Given the description of an element on the screen output the (x, y) to click on. 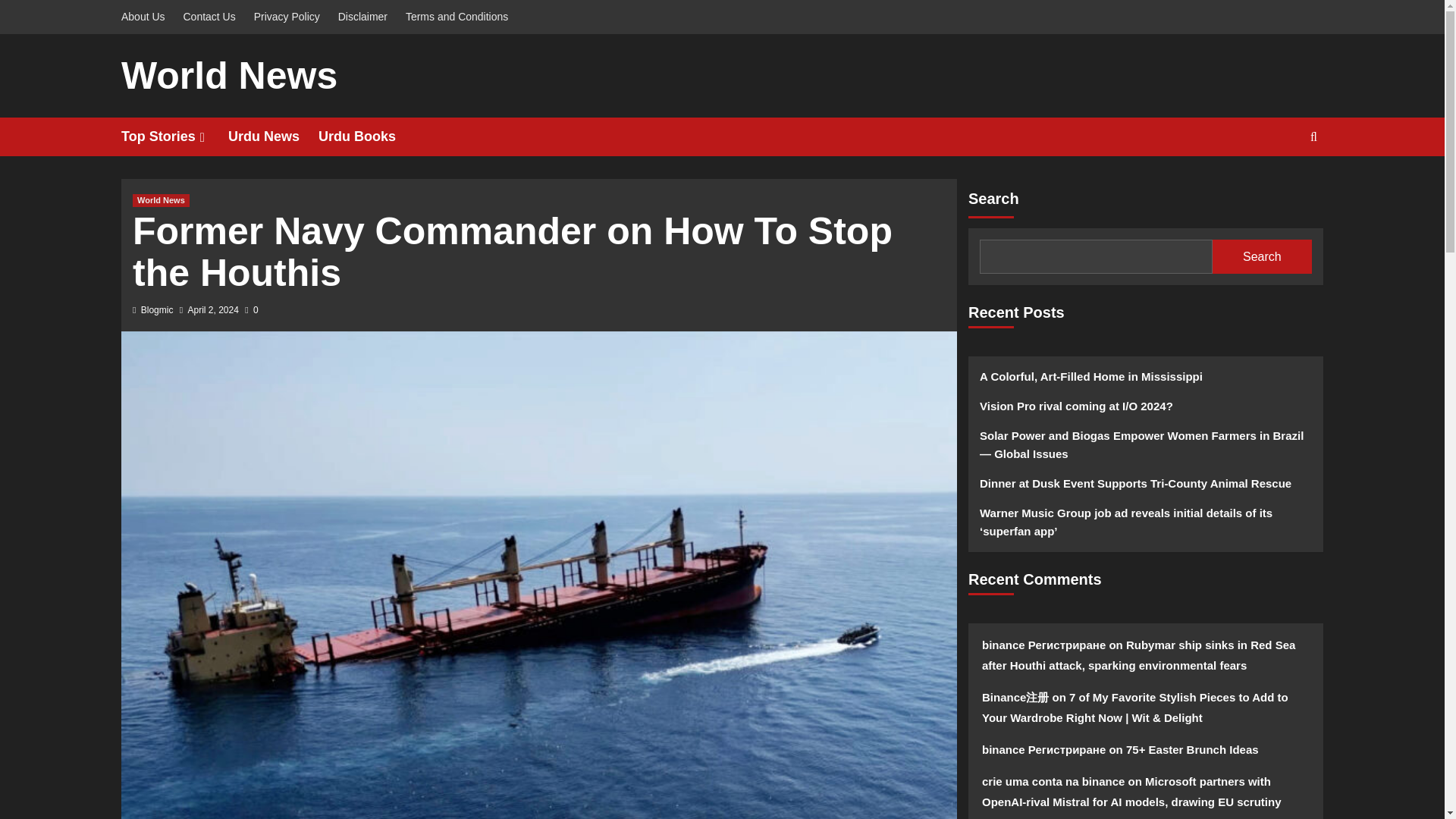
Terms and Conditions (456, 17)
Top Stories (174, 136)
Privacy Policy (286, 17)
World News (228, 75)
Urdu Books (366, 136)
Disclaimer (362, 17)
Search (1278, 183)
Contact Us (208, 17)
About Us (146, 17)
0 (250, 309)
Urdu News (273, 136)
Blogmic (157, 309)
April 2, 2024 (212, 309)
World News (160, 200)
